Given the description of an element on the screen output the (x, y) to click on. 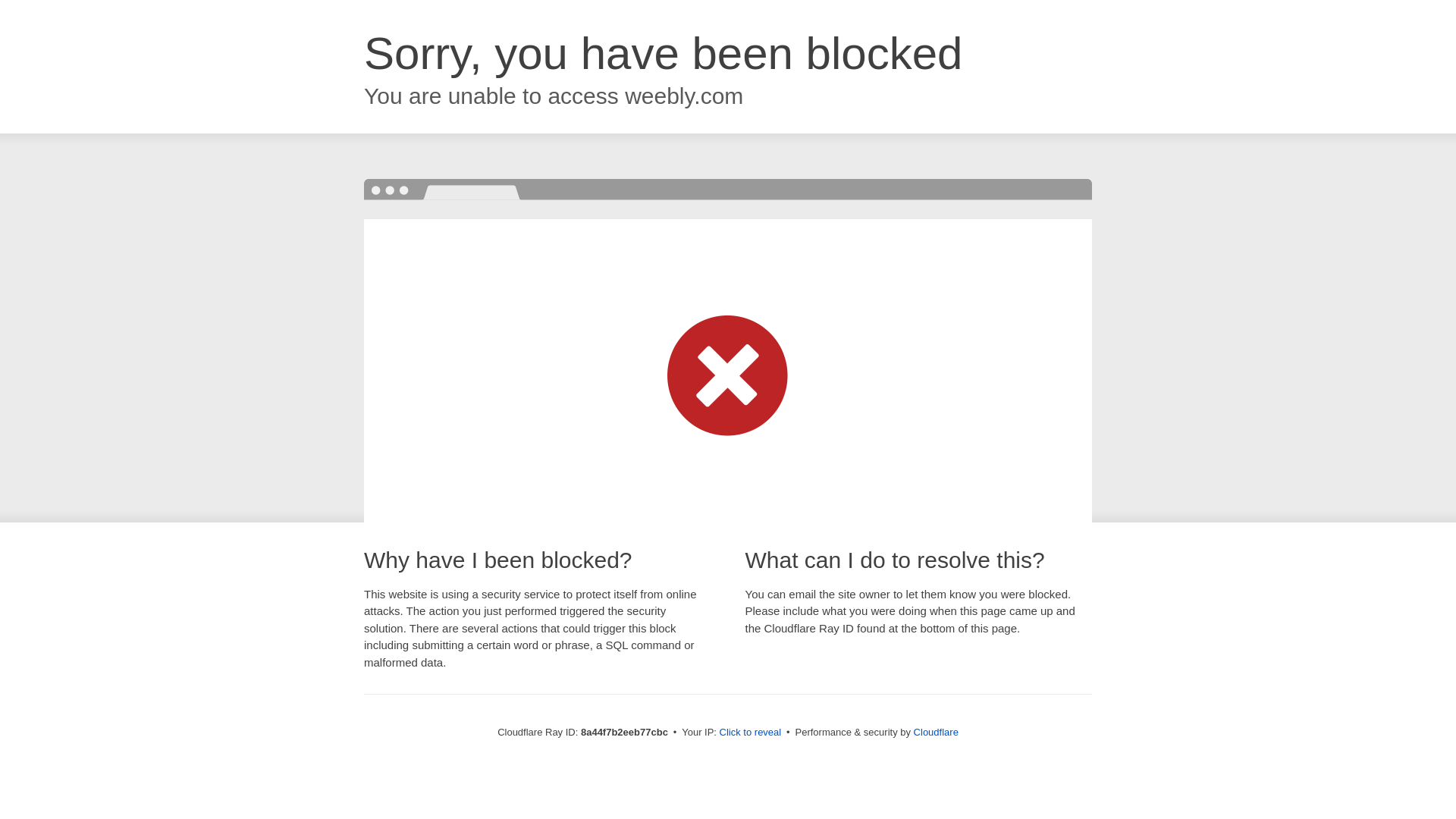
Click to reveal (750, 732)
Cloudflare (936, 731)
